Given the description of an element on the screen output the (x, y) to click on. 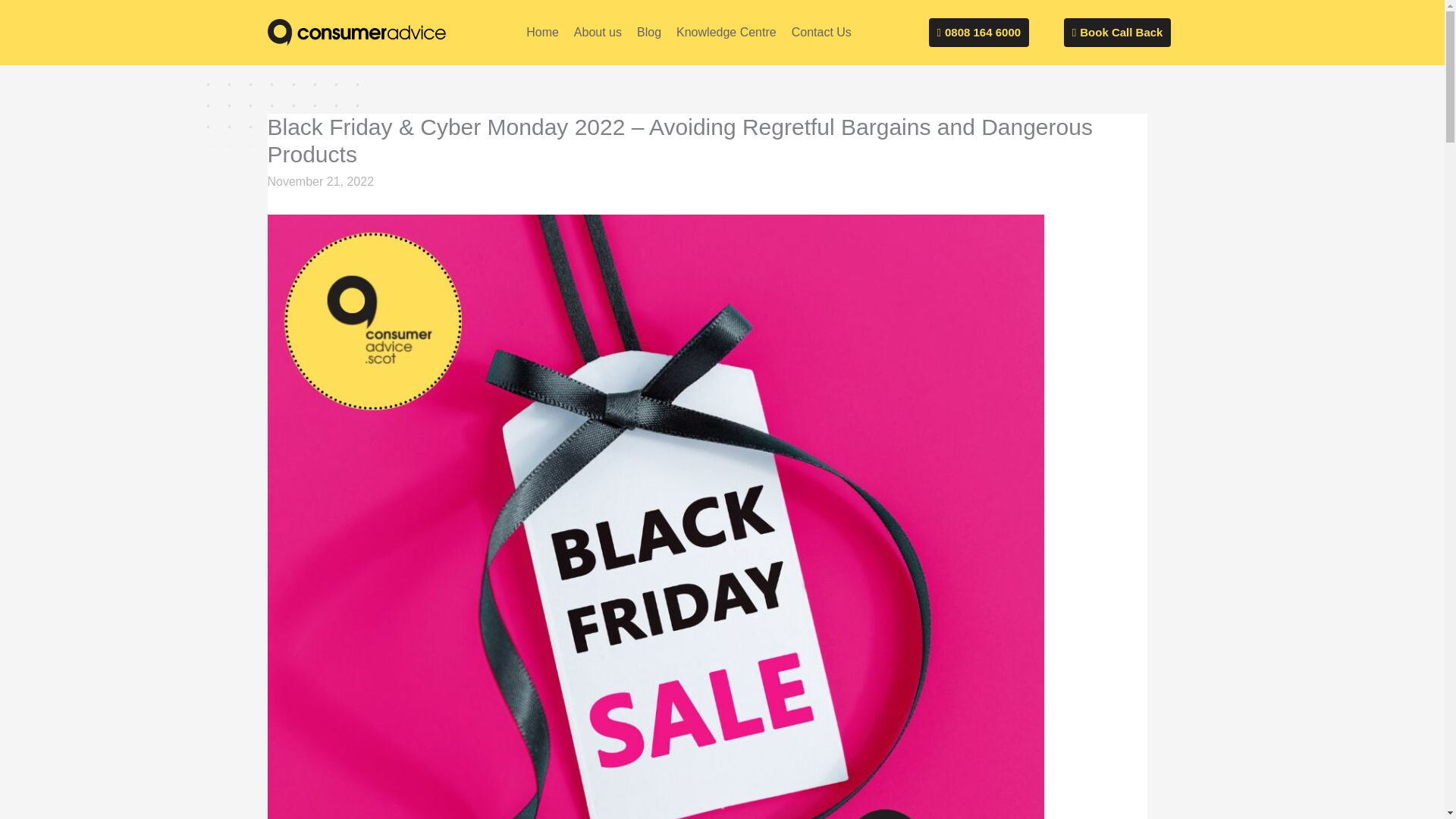
Book Call Back (1118, 32)
0808 164 6000 (978, 32)
Home (542, 32)
Blog (648, 32)
Knowledge Centre (726, 32)
About us (597, 32)
Contact Us (821, 32)
